Given the description of an element on the screen output the (x, y) to click on. 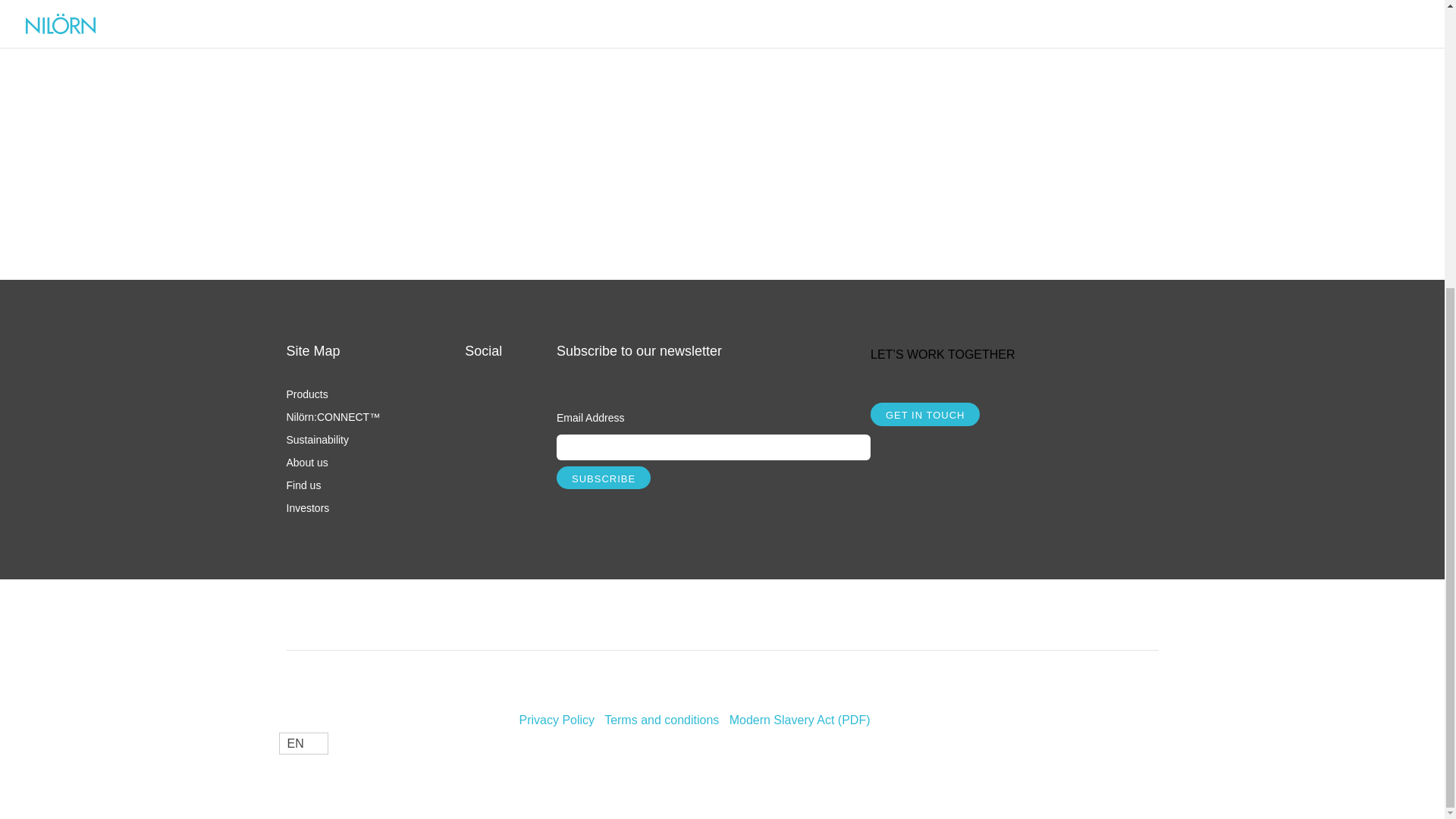
Follow on Instagram (476, 383)
Privacy policy (557, 719)
Subscribe (603, 477)
Open Modern Slavery Act, PDF (799, 719)
Terms and conditions (661, 719)
Follow on Facebook (476, 419)
Follow on Vimeo (476, 456)
Follow on LinkedIn (476, 492)
